Given the description of an element on the screen output the (x, y) to click on. 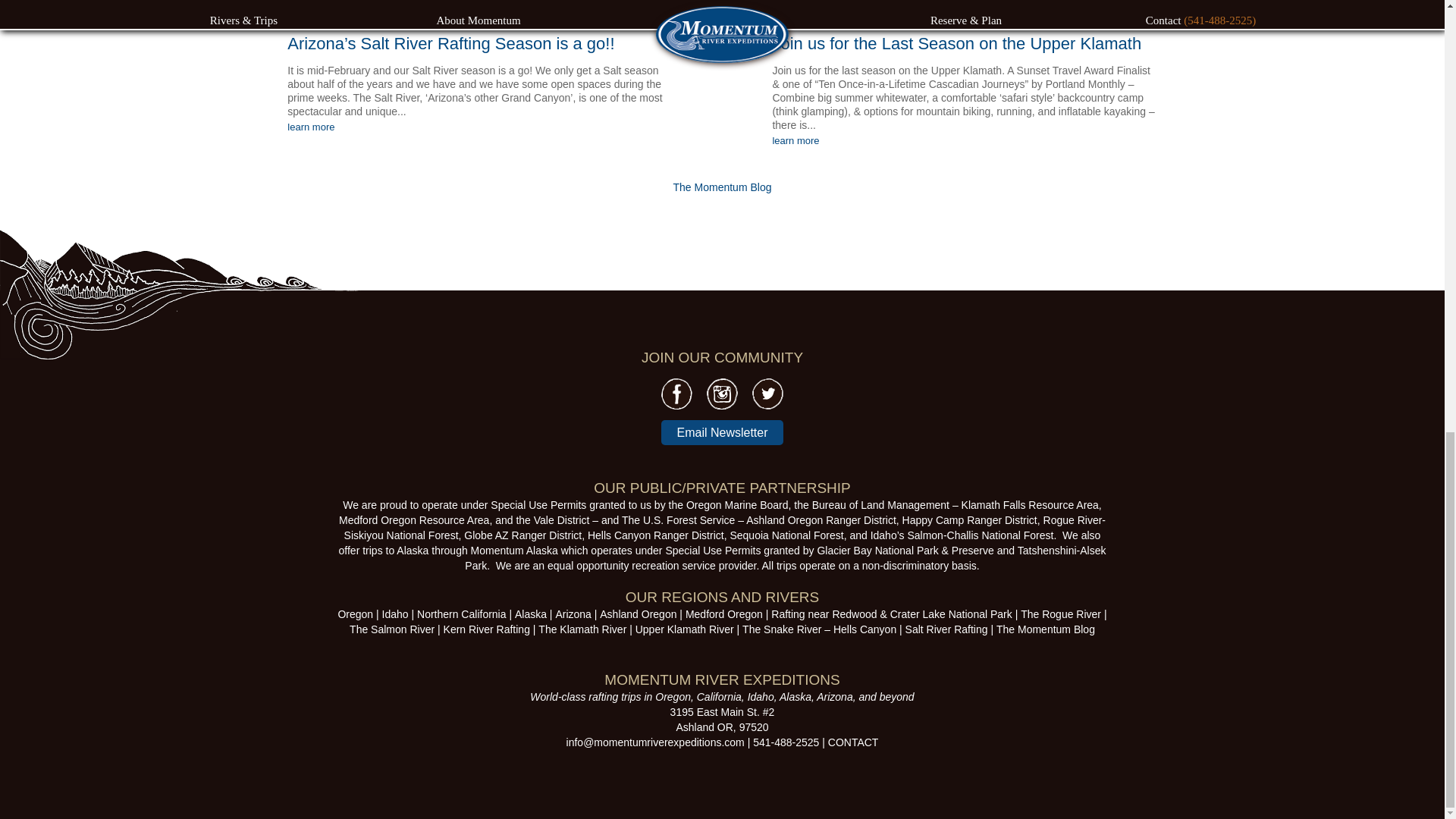
twitter-icon (767, 393)
instagram-icon (722, 393)
facebook-c (676, 393)
